Given the description of an element on the screen output the (x, y) to click on. 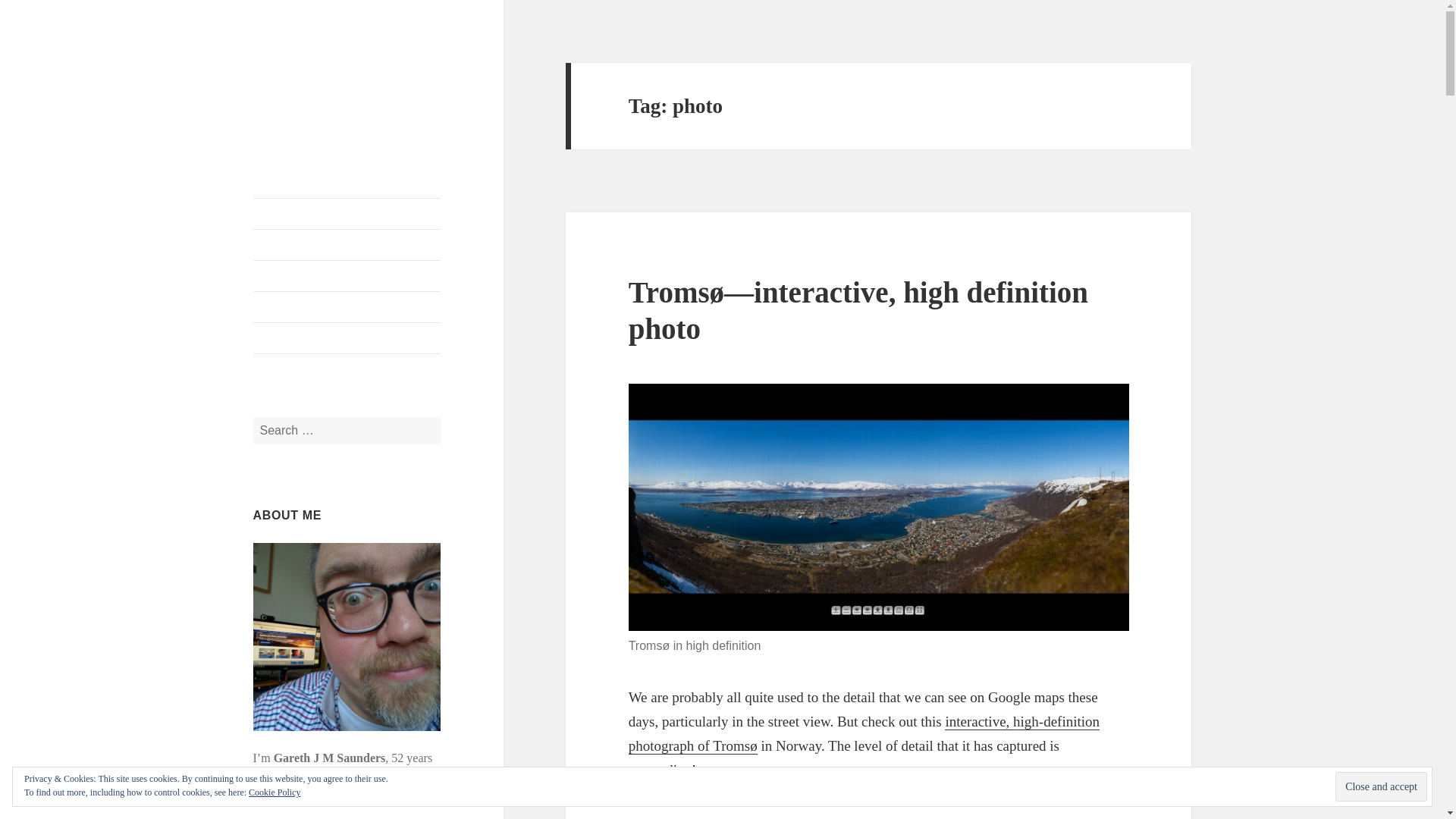
Contact (347, 337)
Home (347, 214)
Books (347, 276)
About (347, 245)
View from the Potting Shed (320, 86)
A wee bit about me. (347, 245)
Close and accept (1380, 786)
Web design (347, 306)
